Given the description of an element on the screen output the (x, y) to click on. 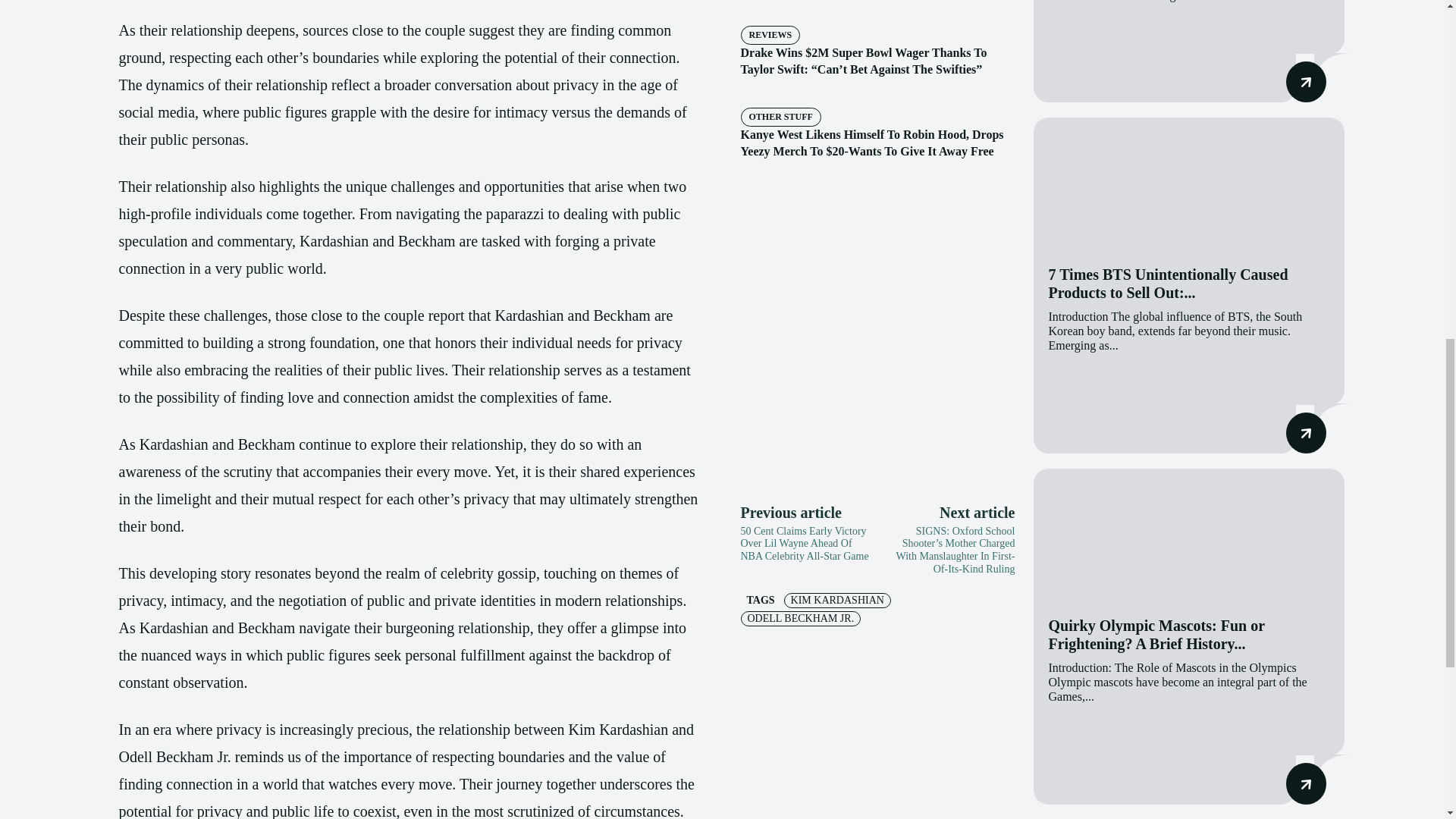
OTHER STUFF (780, 116)
REVIEWS (769, 34)
KIM KARDASHIAN (837, 600)
ODELL BECKHAM JR. (799, 618)
